Given the description of an element on the screen output the (x, y) to click on. 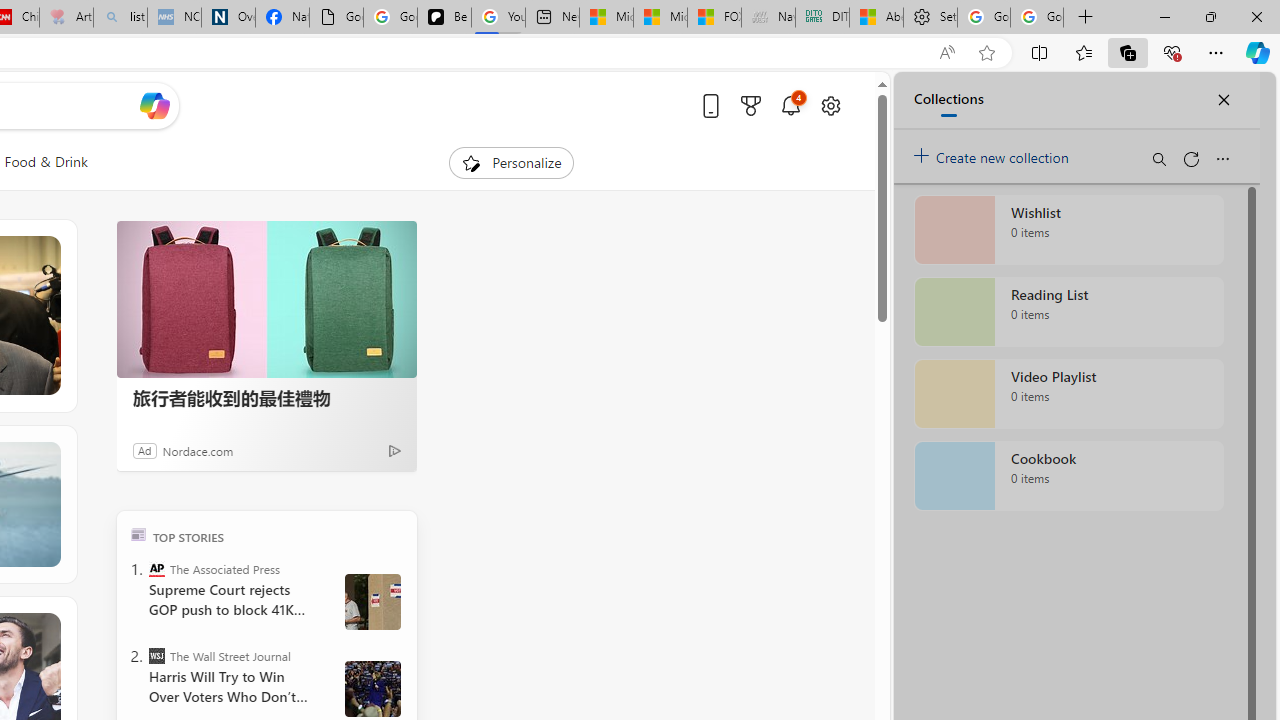
Navy Quest (768, 17)
DITOGAMES AG Imprint (822, 17)
The Associated Press (156, 568)
